Given the description of an element on the screen output the (x, y) to click on. 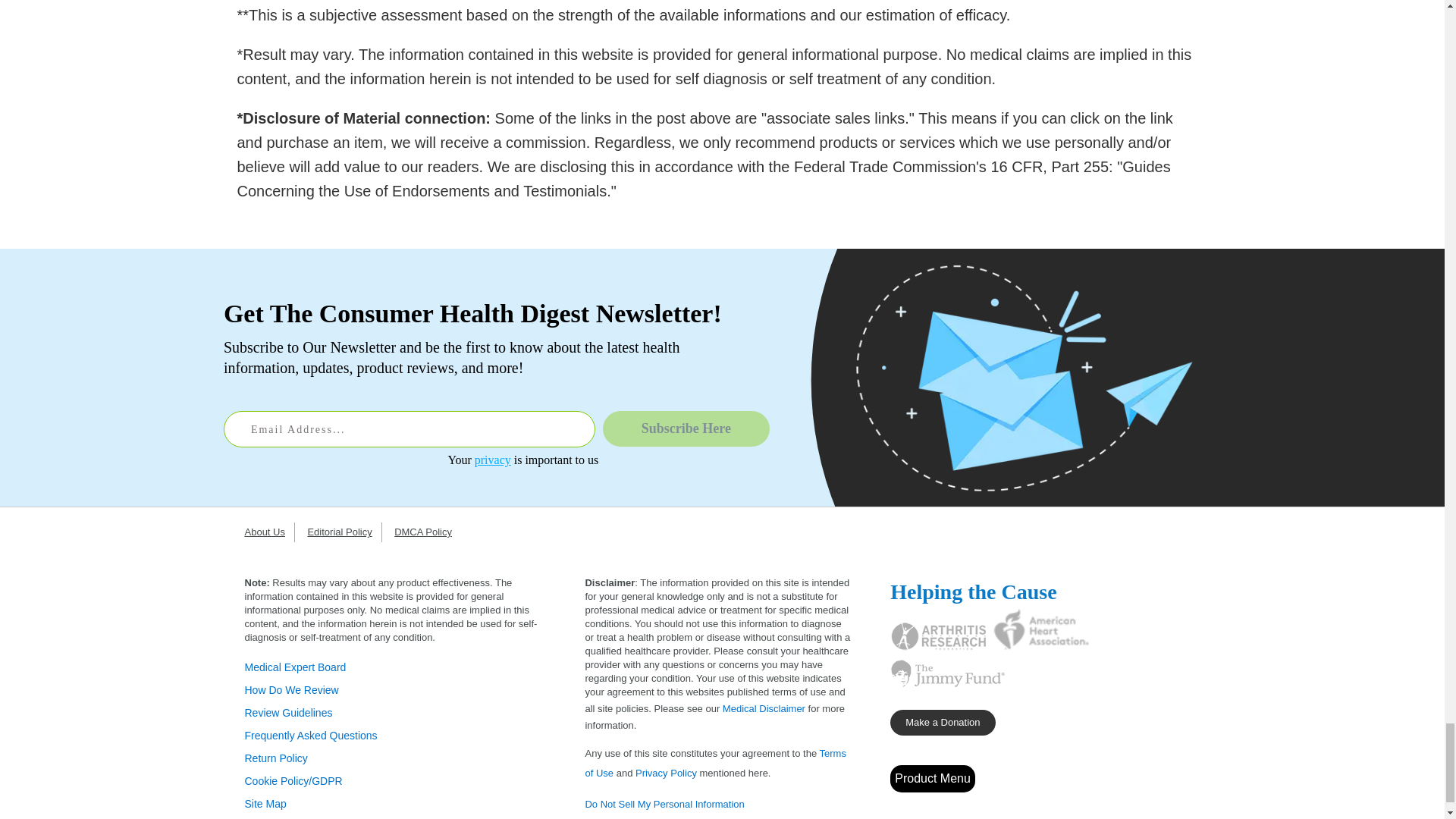
medical expert (295, 666)
how do we do reviews (290, 689)
california privacy notice (664, 803)
DMCA Policy (427, 531)
review guidelines (287, 712)
sitemap (264, 803)
termsofuse (715, 762)
Editorial Policy (343, 531)
privacy policy (665, 772)
return policy (275, 758)
About Us (269, 531)
frequently asked questions (310, 735)
cookie policy (293, 780)
